Given the description of an element on the screen output the (x, y) to click on. 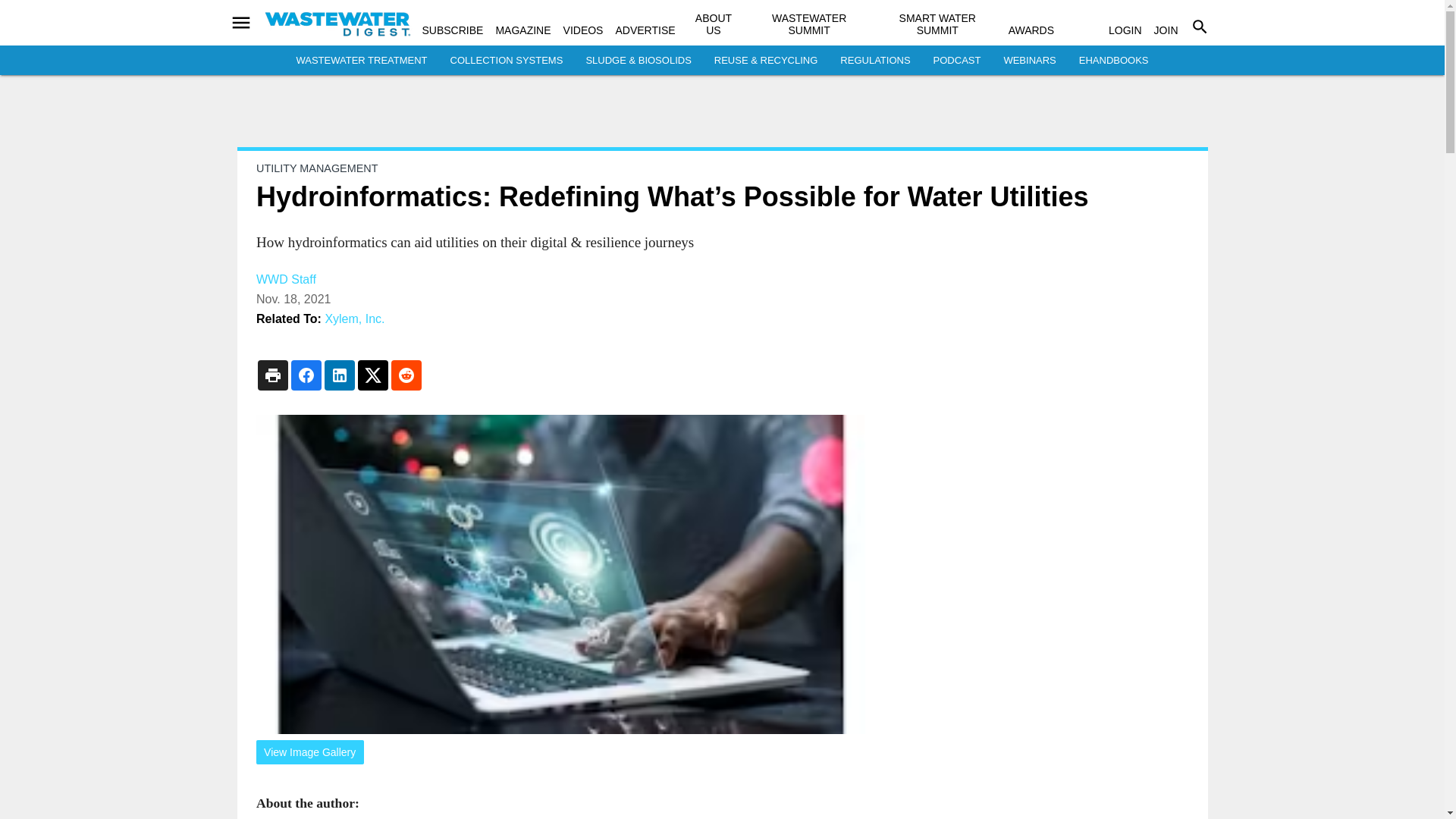
REGULATIONS (875, 60)
VIDEOS (583, 30)
AWARDS (1031, 30)
ADVERTISE (644, 30)
WEBINARS (1029, 60)
ABOUT US (713, 24)
LOGIN (1124, 30)
WASTEWATER SUMMIT (808, 24)
COLLECTION SYSTEMS (506, 60)
